Given the description of an element on the screen output the (x, y) to click on. 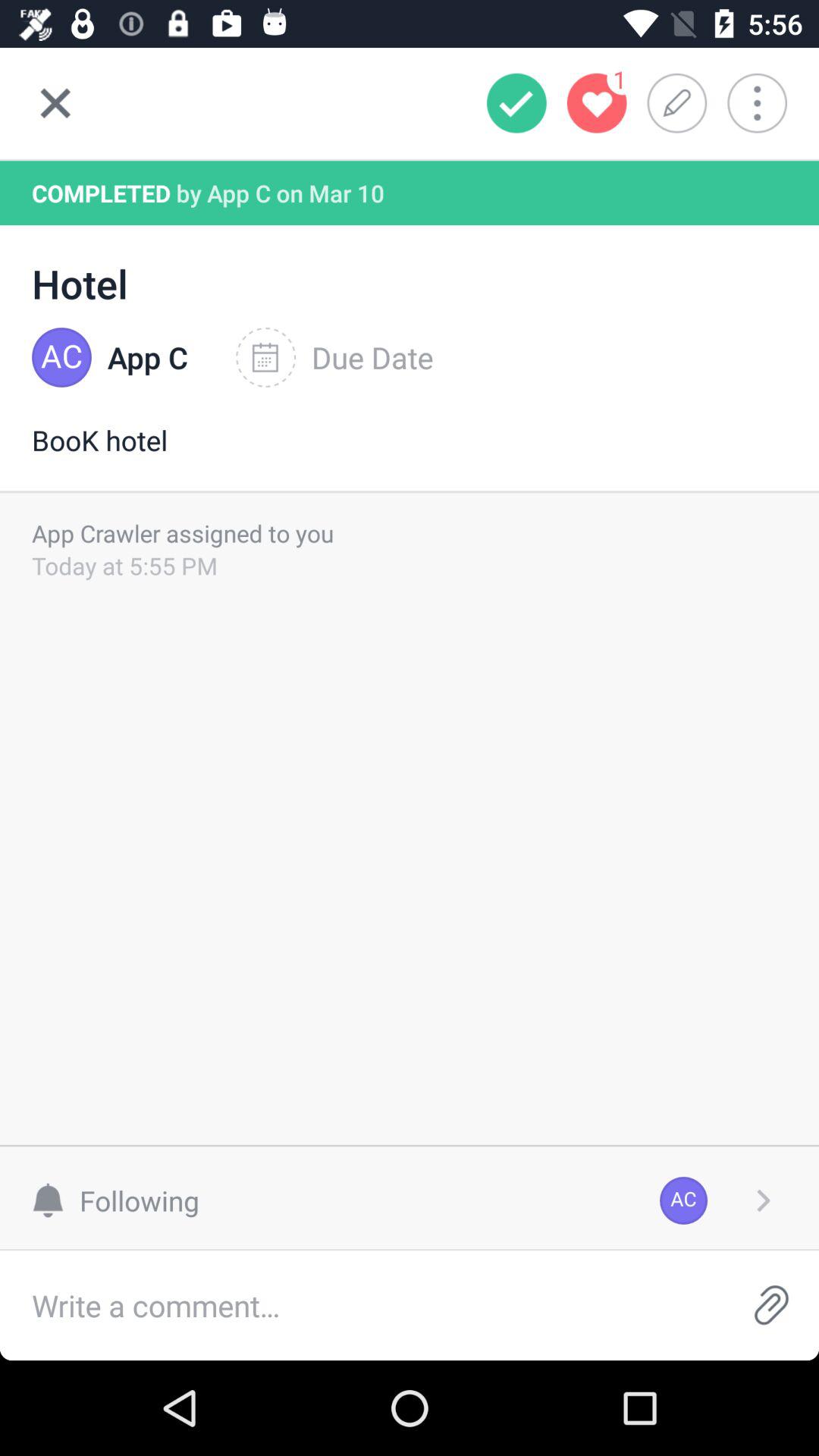
edit option (682, 103)
